Given the description of an element on the screen output the (x, y) to click on. 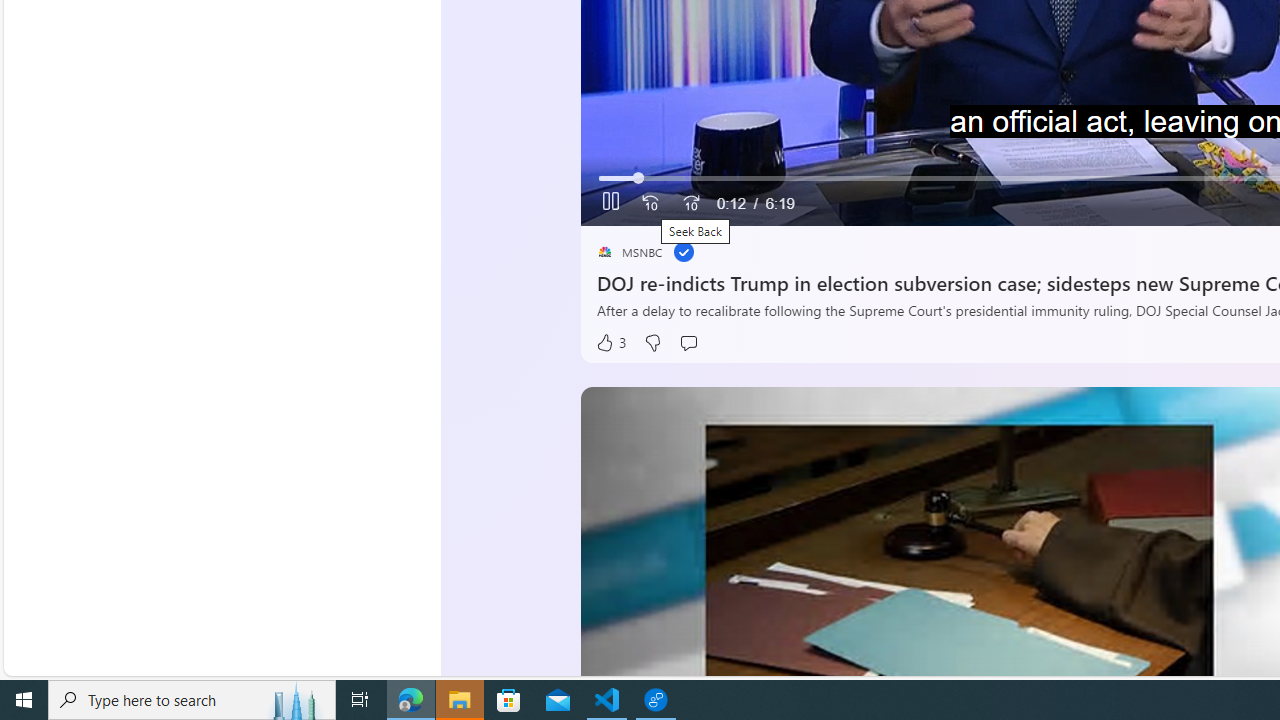
placeholder (604, 252)
Seek Back (650, 203)
3 Like (610, 343)
Seek Forward (690, 203)
placeholder MSNBC (629, 252)
Dislike (651, 343)
Start the conversation (687, 343)
Pause (611, 203)
